Given the description of an element on the screen output the (x, y) to click on. 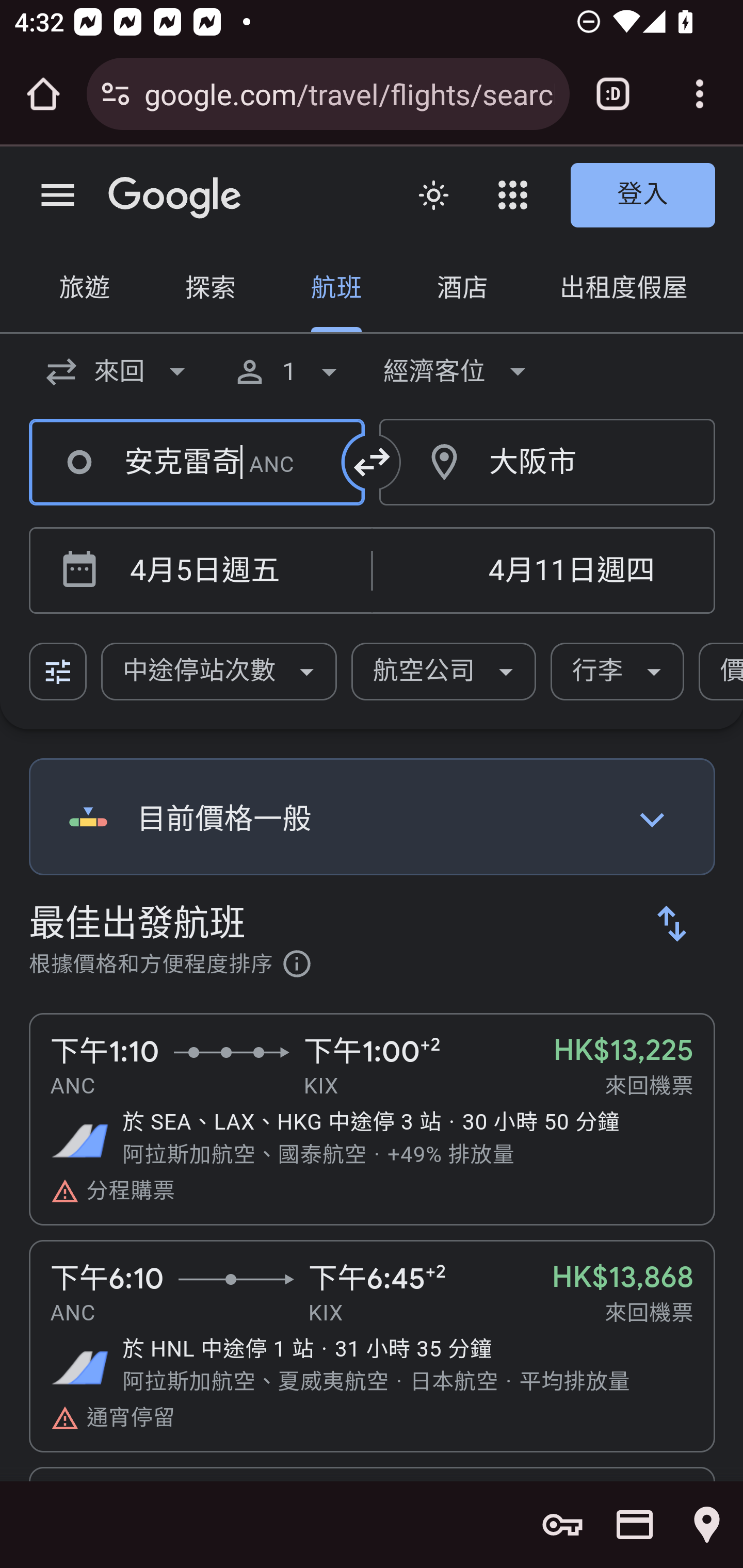
Open the home page (43, 93)
Connection is secure (115, 93)
Switch or close tabs (612, 93)
Customize and control Google Chrome (699, 93)
主選單 (58, 195)
Google Apps (513, 195)
登入 (643, 195)
變更外觀 (433, 195)
Google (175, 198)
旅遊  (84, 289)
探索  (209, 289)
航班  (336, 289)
酒店  (462, 289)
出租度假屋  (623, 289)
1 位乘客 (289, 371)
安克雷奇 (197, 462)
大阪市 (547, 462)
將出發地同埋目的地對調 (372, 462)
出發 4月5日週五 (237, 571)
返回 4月11日週四 (543, 571)
所有篩選器 (58, 671)
中途停站次數, 未揀 (219, 671)
航空公司, 未揀 (443, 671)
行李, 未揀 (617, 671)
查看價格紀錄 (652, 818)
最佳航班, 變更排序順序。 (672, 923)
進一步瞭解 (296, 966)
Show saved passwords and password options (562, 1524)
Show saved payment methods (634, 1524)
Show saved addresses (706, 1524)
